Given the description of an element on the screen output the (x, y) to click on. 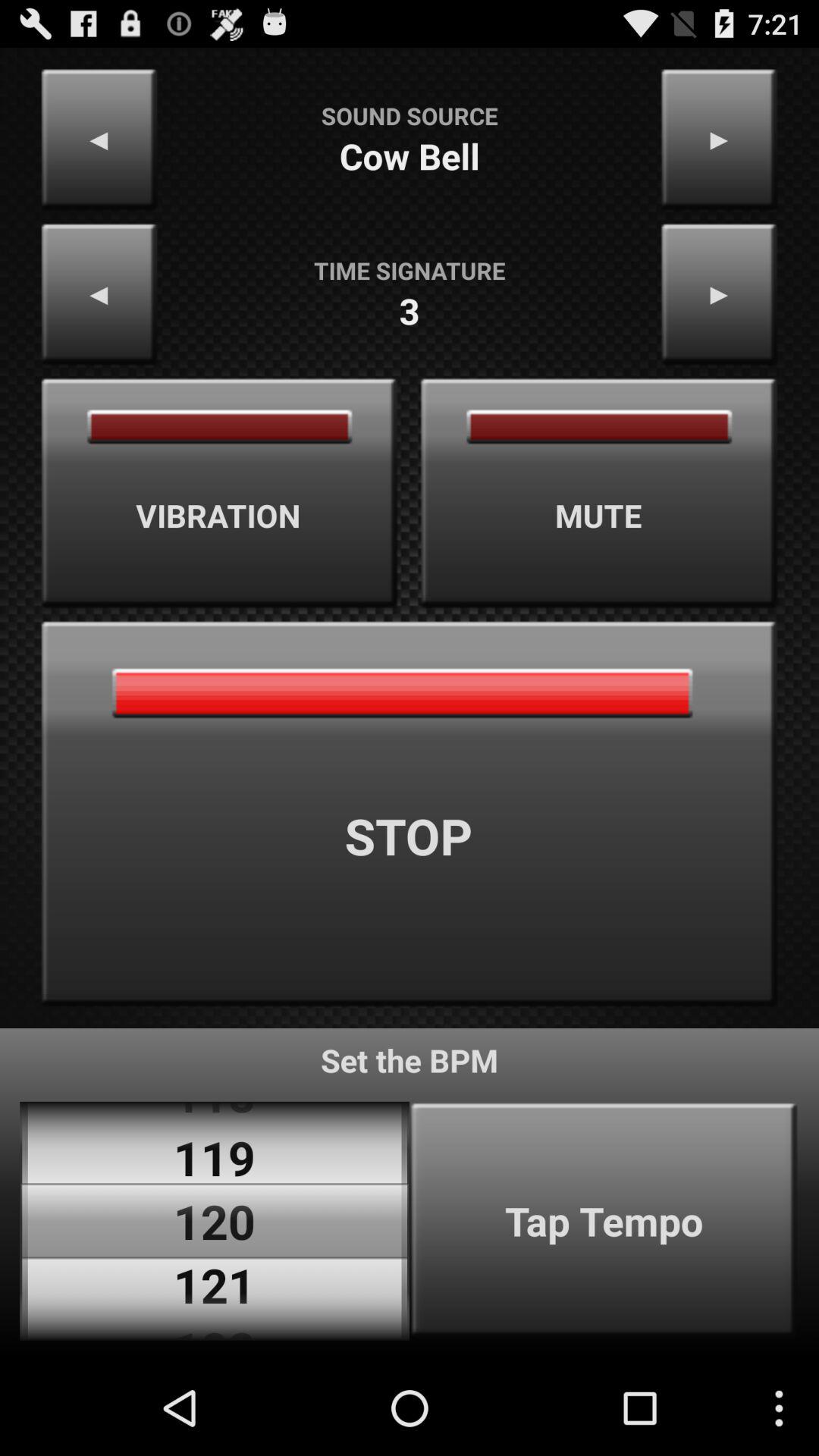
turn off the item to the right of sound source app (719, 139)
